Given the description of an element on the screen output the (x, y) to click on. 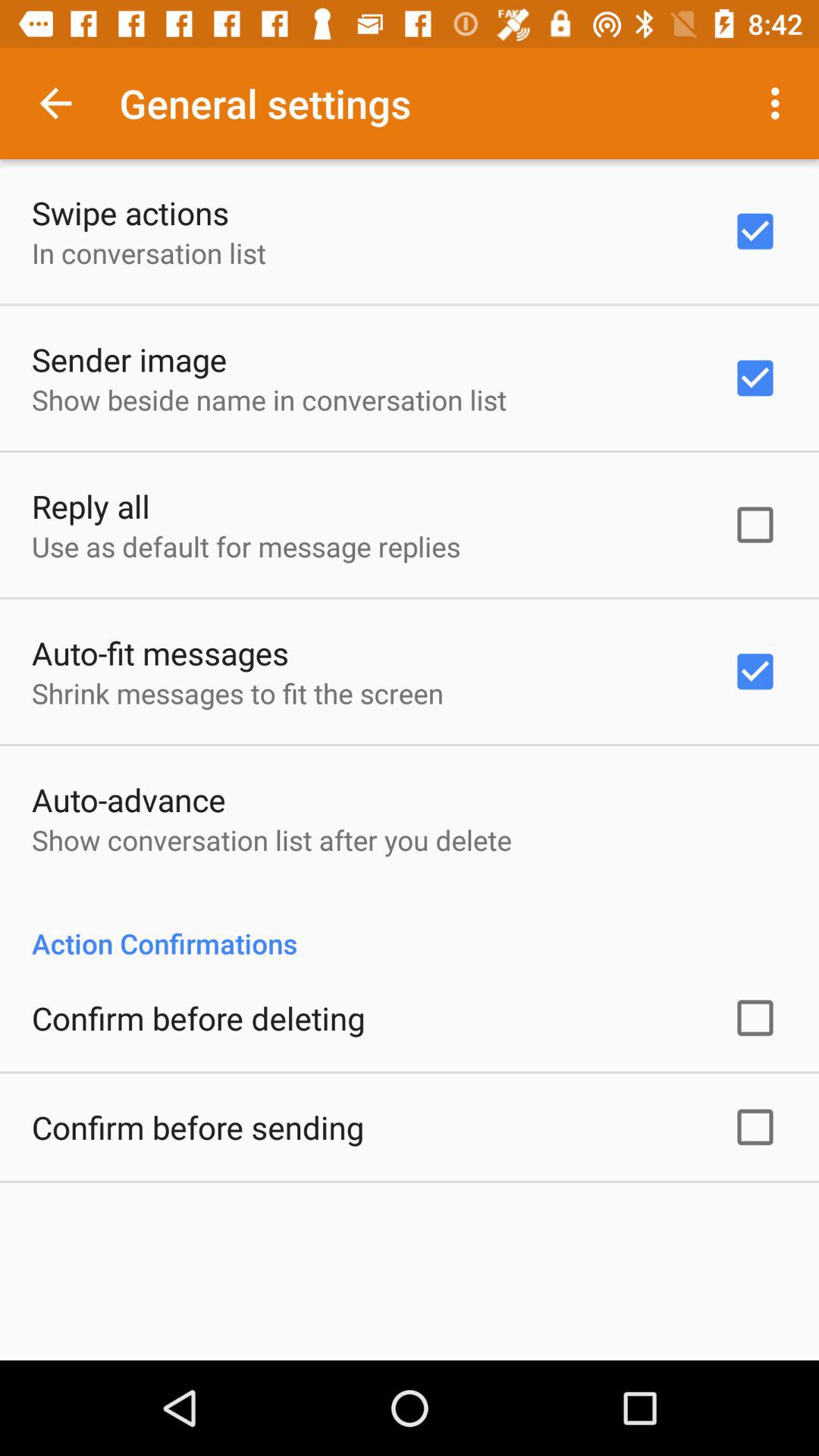
scroll to the action confirmations icon (409, 927)
